Given the description of an element on the screen output the (x, y) to click on. 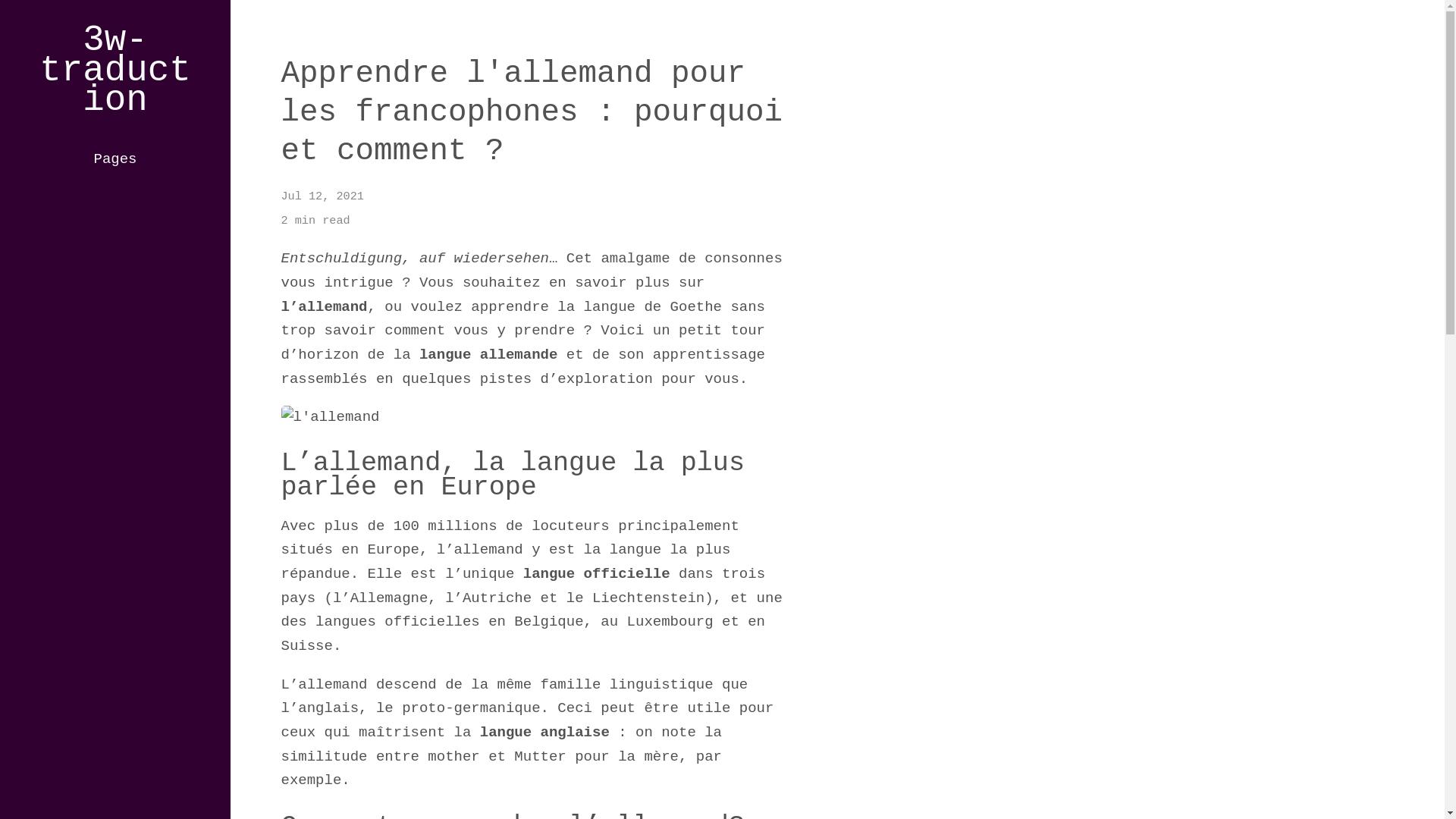
3w-traduction Element type: text (115, 69)
Pages Element type: text (114, 158)
